Given the description of an element on the screen output the (x, y) to click on. 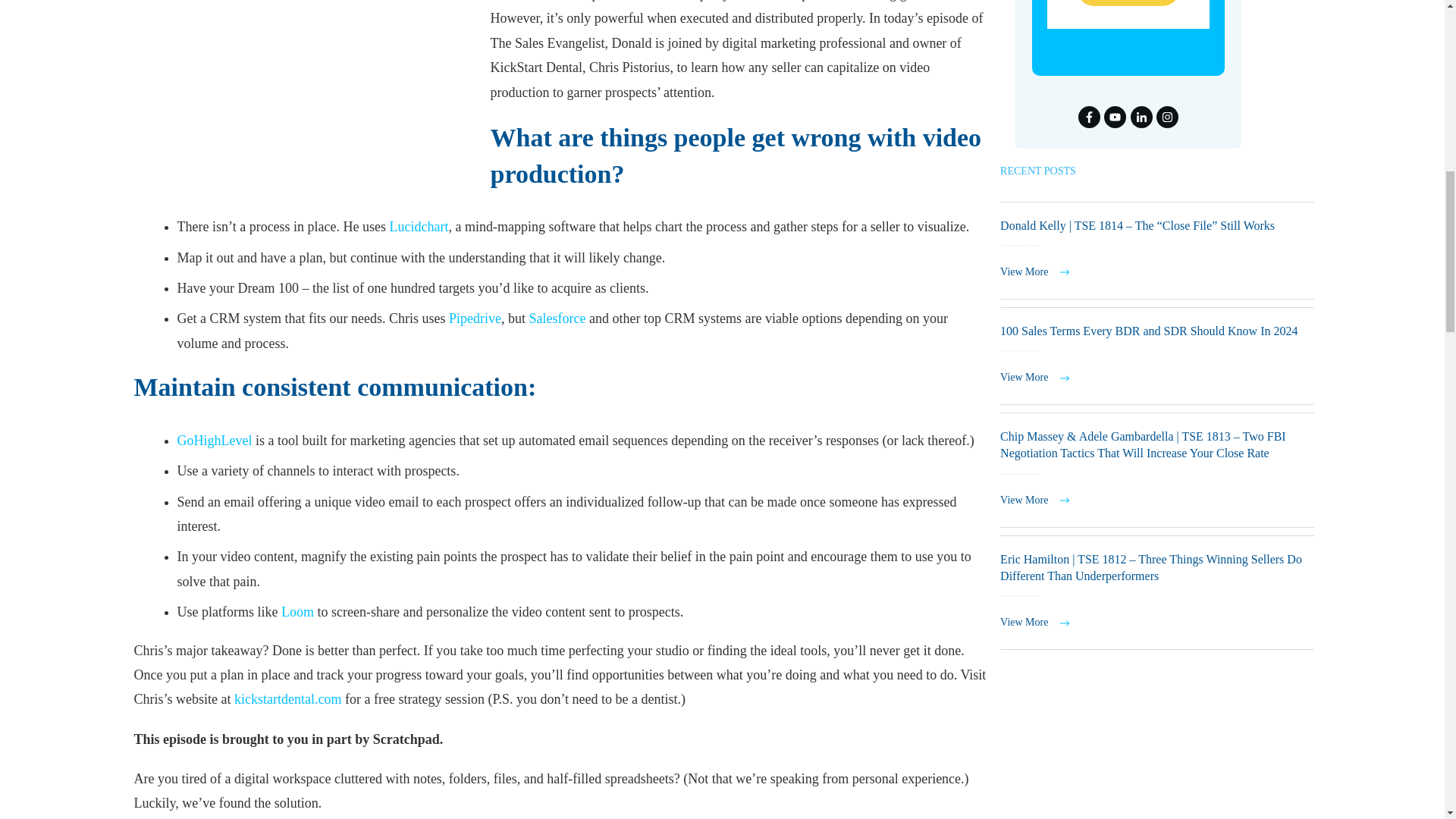
Salesforce (557, 318)
Loom (297, 611)
100 Sales Terms Every BDR and SDR Should Know In 2024 (1148, 330)
GoHighLevel (214, 440)
Lucidchart (419, 226)
Pipedrive (474, 318)
